Given the description of an element on the screen output the (x, y) to click on. 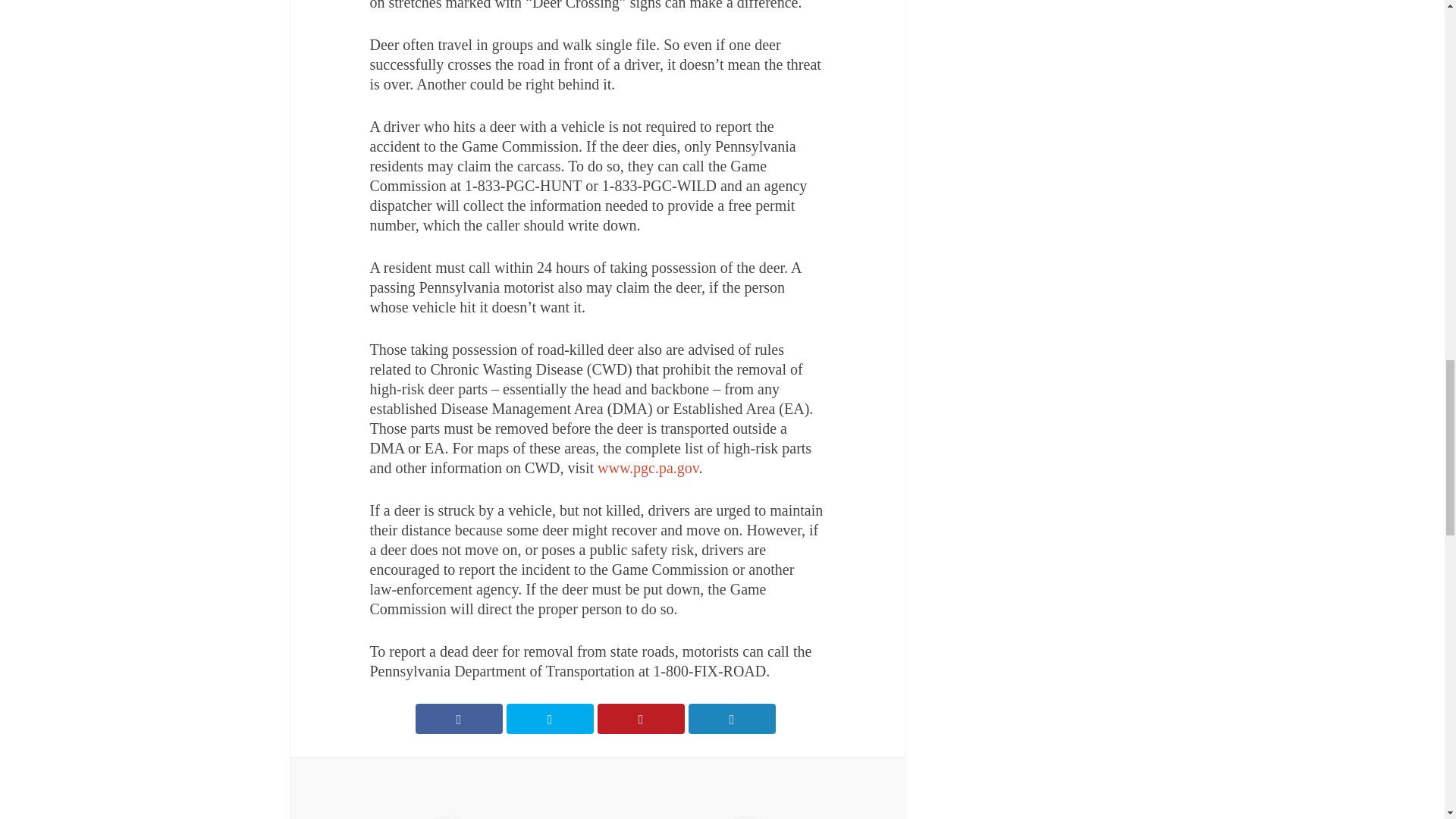
www.pgc.pa.gov (647, 467)
